Given the description of an element on the screen output the (x, y) to click on. 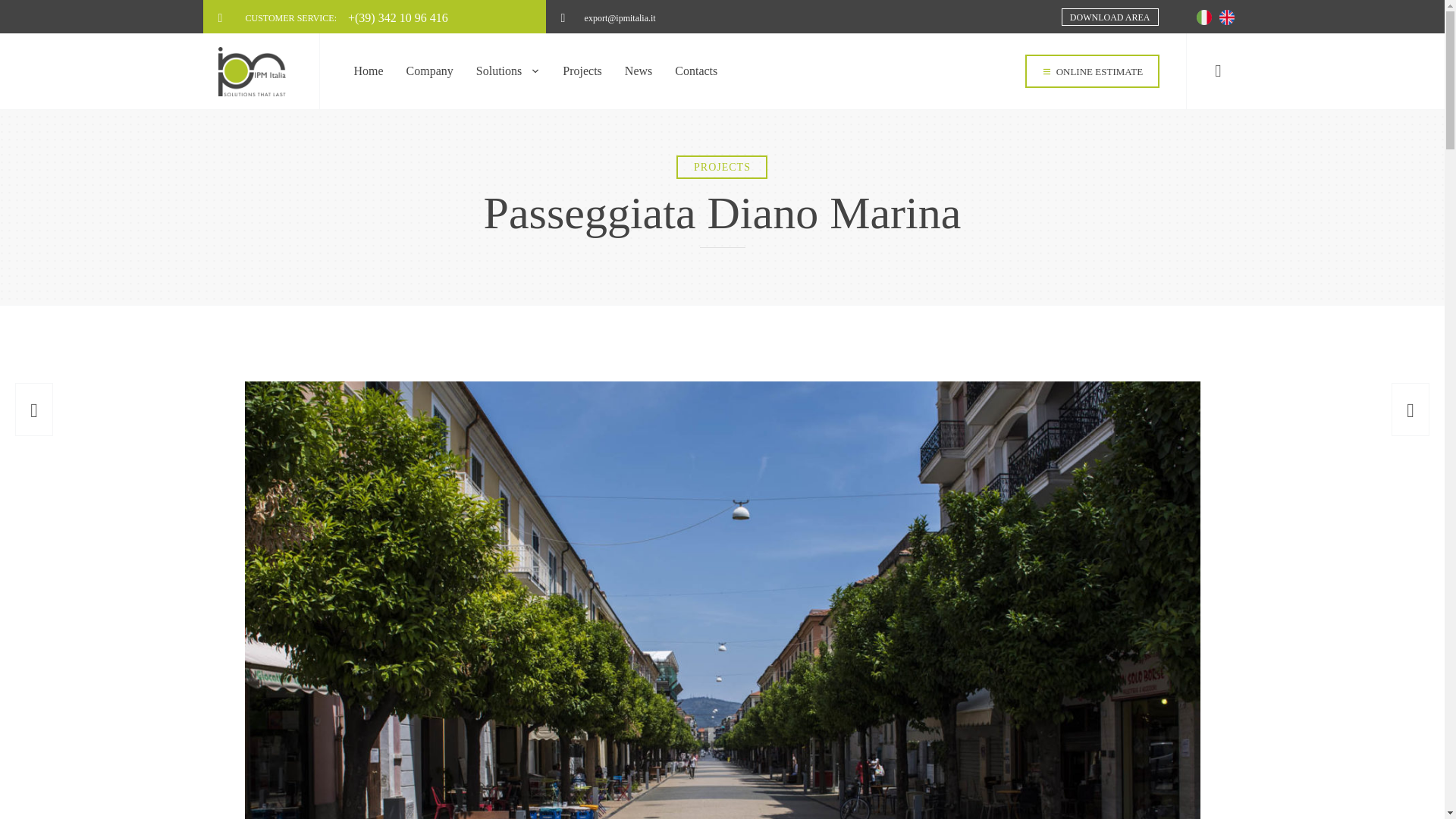
DOWNLOAD AREA (1109, 16)
Solutions (507, 70)
ONLINE ESTIMATE (1091, 70)
English (1227, 17)
Company (429, 70)
IPM Italia Pavimenti e Rivestimenti in Resina (257, 71)
Italiano (1203, 17)
